Given the description of an element on the screen output the (x, y) to click on. 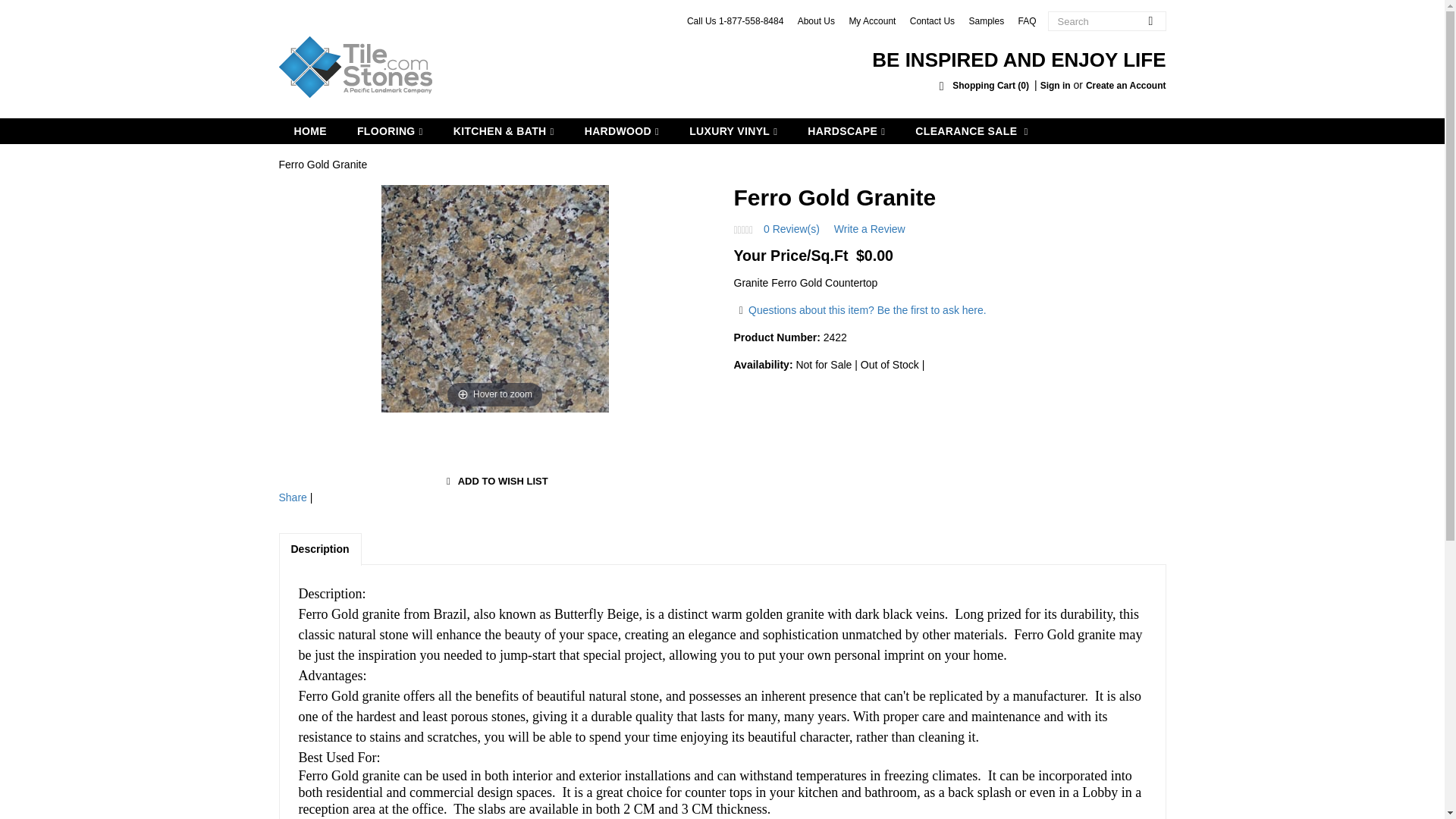
FLOORING (390, 130)
Contact Us (932, 20)
1-877-558-8484 (751, 20)
Sign in (1055, 85)
HOME (310, 130)
HARDWOOD (621, 130)
My Account (871, 20)
Samples (986, 20)
About Us (815, 20)
Create an Account (1126, 85)
FAQ (1026, 20)
